Given the description of an element on the screen output the (x, y) to click on. 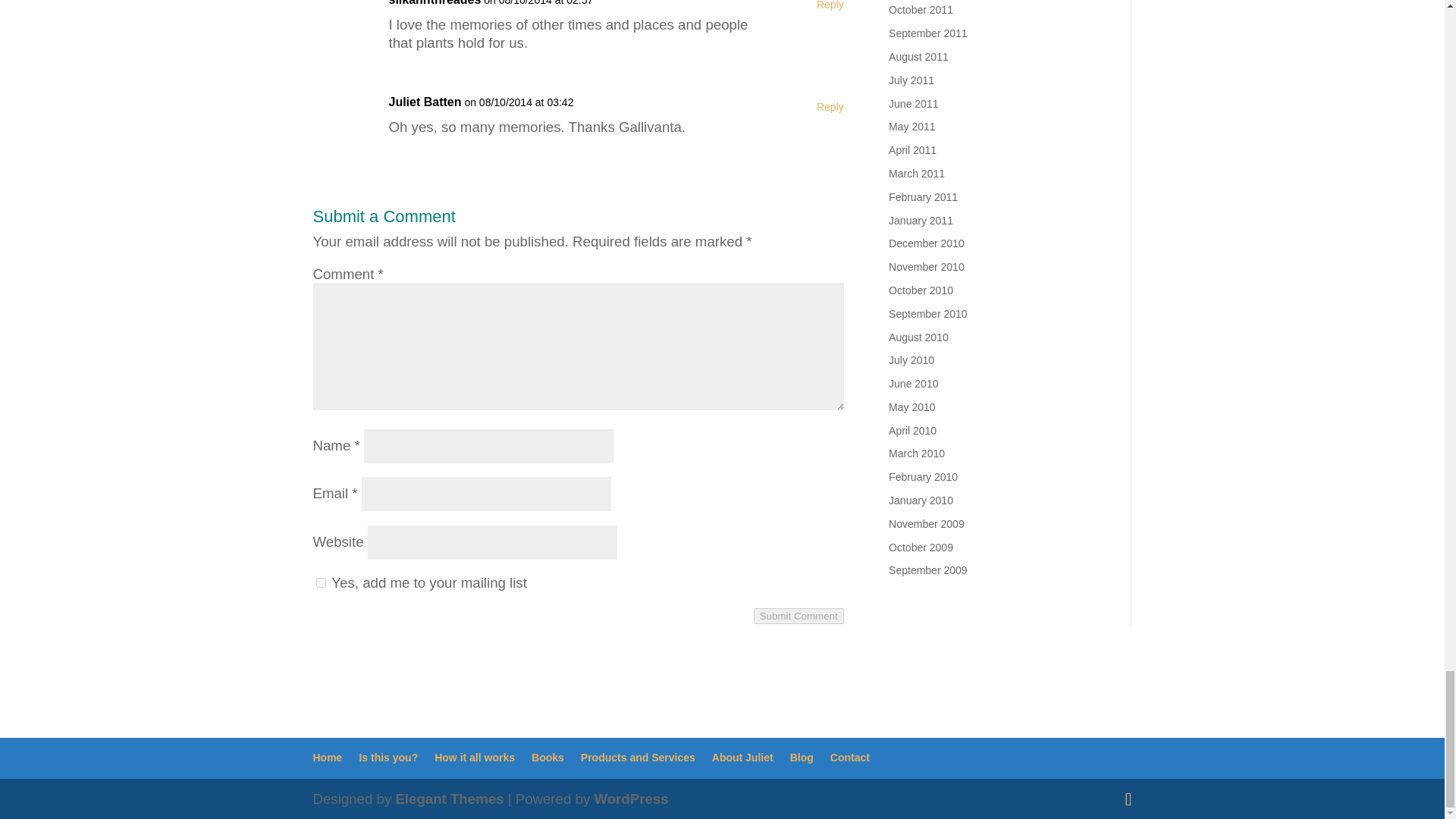
1 (319, 583)
Premium WordPress Themes (448, 798)
